Given the description of an element on the screen output the (x, y) to click on. 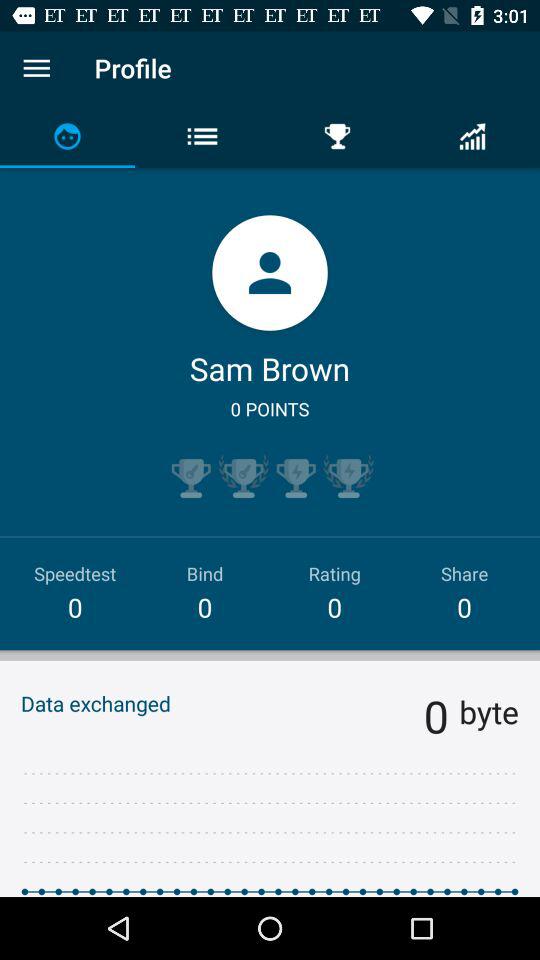
open list (36, 68)
